Given the description of an element on the screen output the (x, y) to click on. 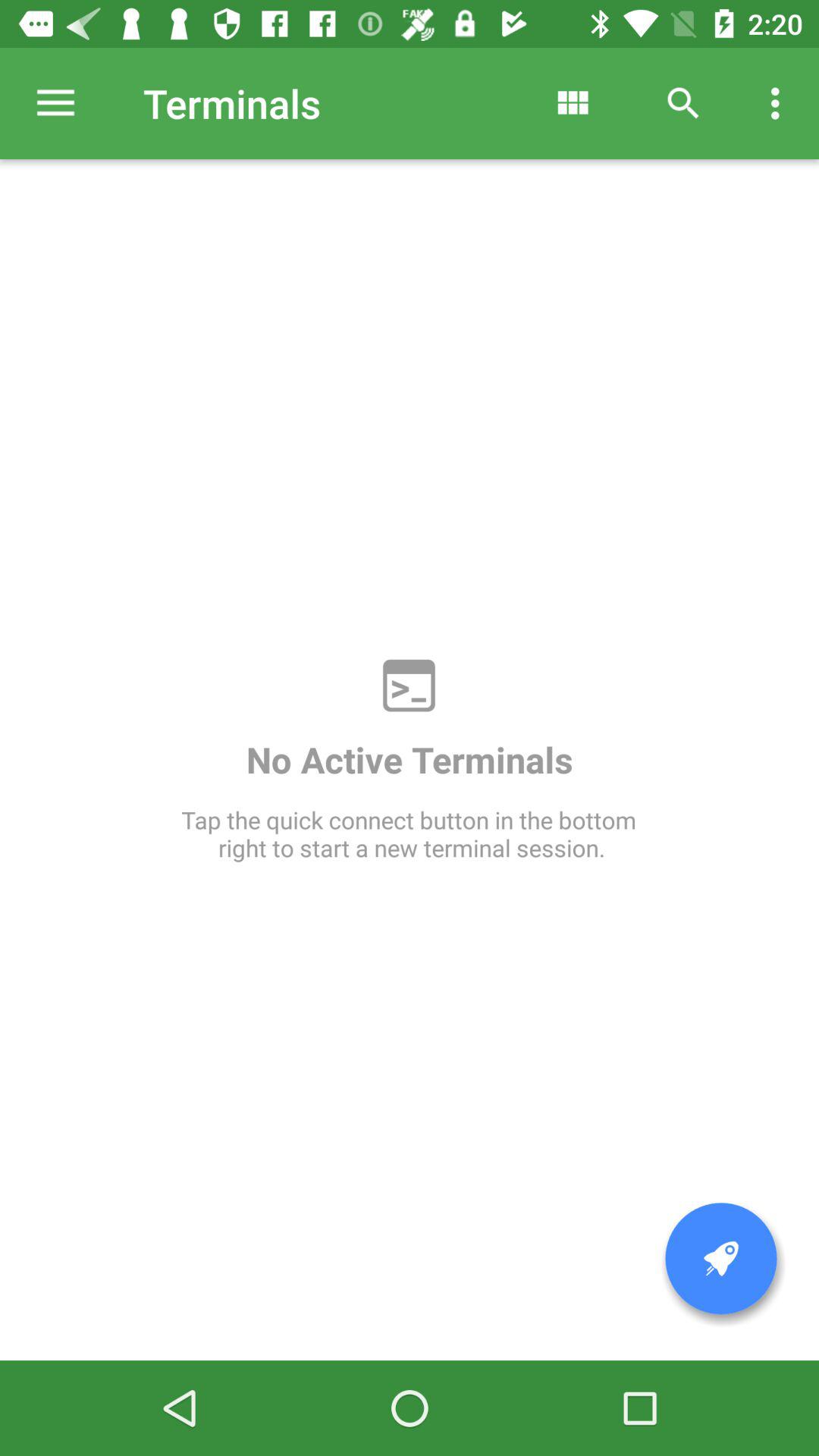
start new terminal session (721, 1258)
